Given the description of an element on the screen output the (x, y) to click on. 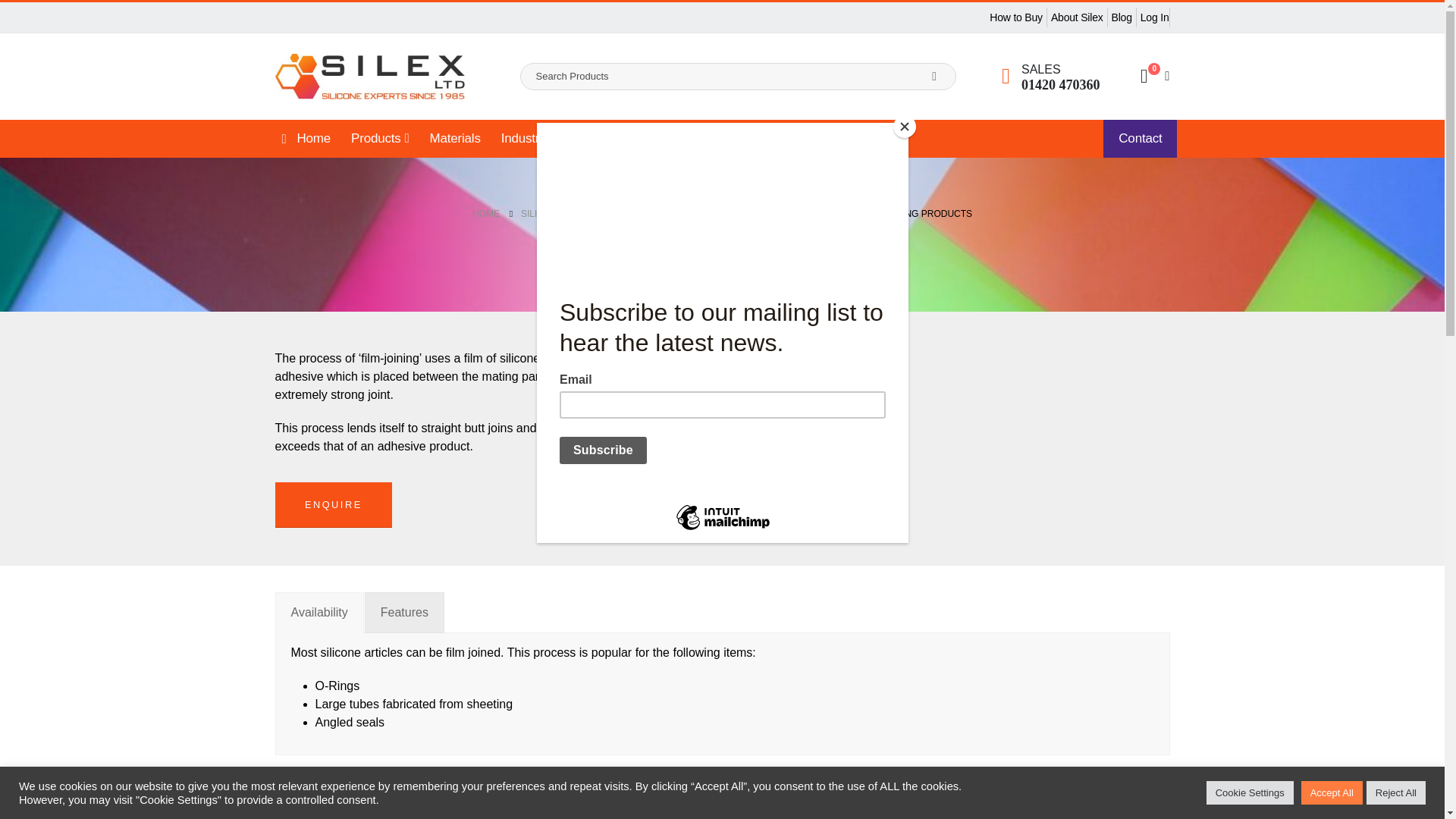
Materials (455, 138)
Search (933, 76)
Blog (1121, 17)
How to Buy (1015, 17)
Silex Ltd - High-quality silicone rubber products (369, 76)
Go to Home Page (485, 213)
Home (303, 138)
Industries (532, 138)
Log In (1153, 17)
About Silex (1076, 17)
Shop (602, 138)
Products (379, 138)
